Given the description of an element on the screen output the (x, y) to click on. 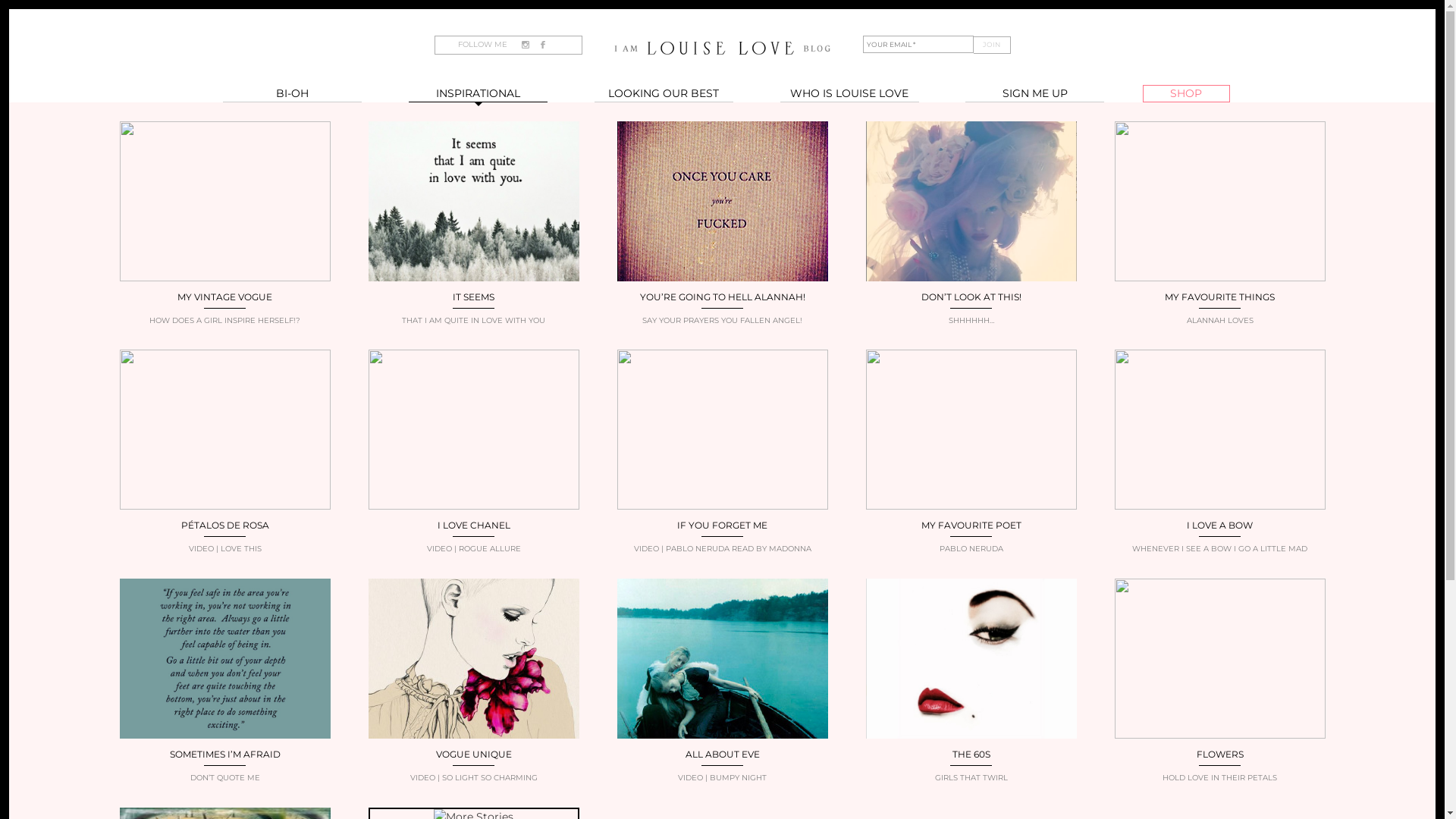
VIDEO | LOVE THIS Element type: text (224, 548)
WHO IS LOUISE LOVE Element type: text (849, 93)
VIDEO | PABLO NERUDA READ BY MADONNA Element type: text (722, 548)
VOGUE UNIQUE Element type: text (473, 753)
THE 60S Element type: text (971, 753)
VIDEO | ROGUE ALLURE Element type: text (473, 548)
SAY YOUR PRAYERS YOU FALLEN ANGEL! Element type: text (722, 320)
Join Element type: text (991, 44)
LOOKING OUR BEST Element type: text (663, 93)
MY FAVOURITE POET Element type: text (970, 524)
ALANNAH LOVES Element type: text (1219, 320)
FLOWERS Element type: text (1219, 753)
PABLO NERUDA Element type: text (971, 548)
IF YOU FORGET ME Element type: text (722, 524)
WHENEVER I SEE A BOW I GO A LITTLE MAD Element type: text (1219, 548)
I LOVE A BOW Element type: text (1219, 524)
VIDEO | SO LIGHT SO CHARMING Element type: text (473, 777)
SKIP TO CONTENT Element type: text (372, 110)
MY FAVOURITE THINGS Element type: text (1219, 296)
HOW DOES A GIRL INSPIRE HERSELF!? Element type: text (224, 320)
SHOP Element type: text (1185, 93)
ALL ABOUT EVE Element type: text (722, 753)
VIDEO | BUMPY NIGHT Element type: text (722, 777)
SIGN ME UP Element type: text (1034, 93)
MY VINTAGE VOGUE Element type: text (224, 296)
I LOVE CHANEL Element type: text (472, 524)
INSPIRATIONAL Element type: text (477, 93)
IT SEEMS Element type: text (473, 296)
HOLD LOVE IN THEIR PETALS Element type: text (1219, 777)
GIRLS THAT TWIRL Element type: text (971, 777)
THAT I AM QUITE IN LOVE WITH YOU Element type: text (473, 320)
BI-OH Element type: text (291, 93)
